Given the description of an element on the screen output the (x, y) to click on. 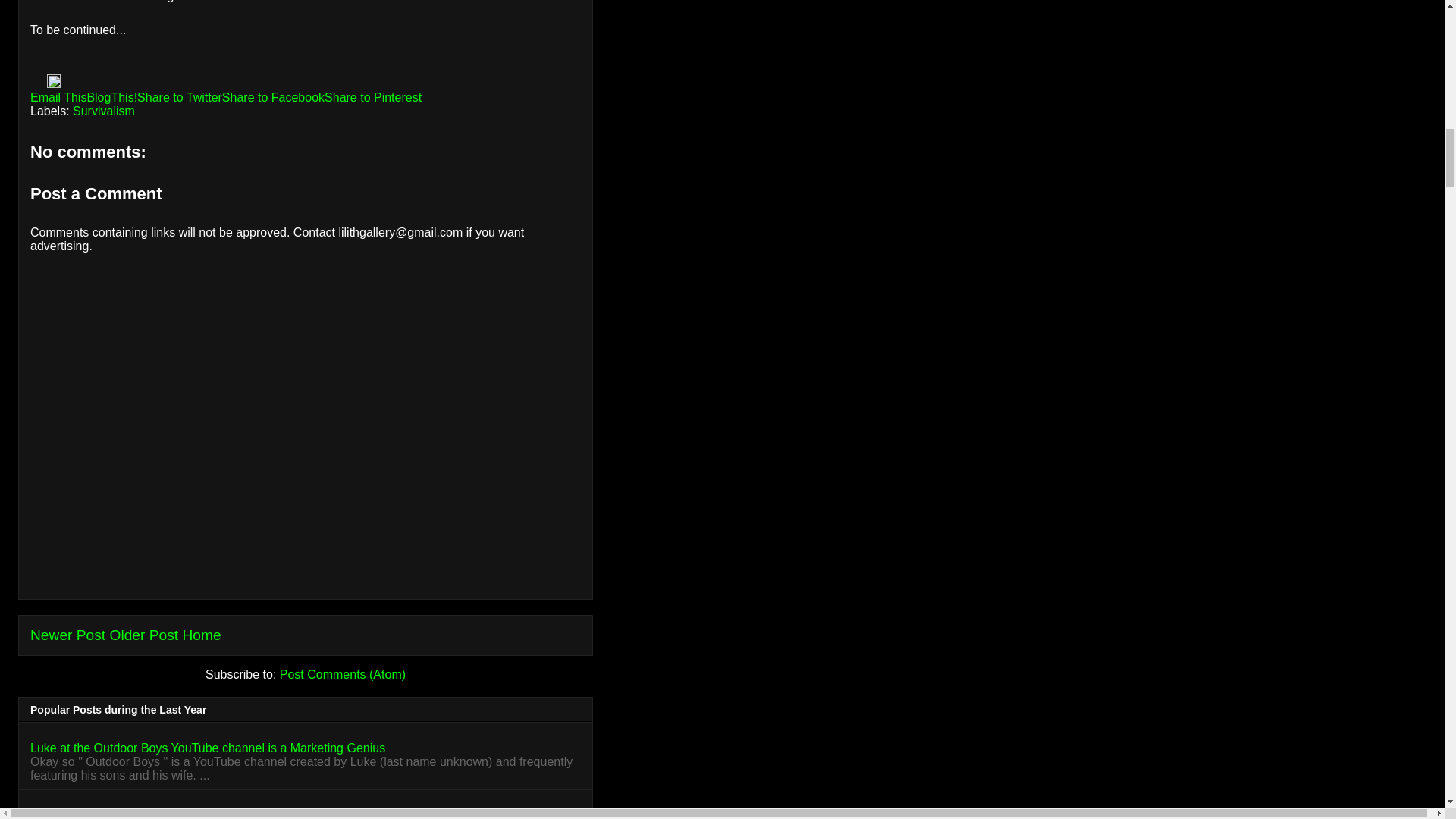
BlogThis! (110, 97)
Share to Twitter (179, 97)
Newer Post (67, 634)
Share to Facebook (273, 97)
Bear Bow Models, Older Models sorted by Year (157, 814)
Share to Pinterest (373, 97)
Edit Post (53, 83)
BlogThis! (110, 97)
Email This (57, 97)
Newer Post (67, 634)
Share to Facebook (273, 97)
Older Post (144, 634)
Share to Pinterest (373, 97)
Email Post (38, 83)
